Given the description of an element on the screen output the (x, y) to click on. 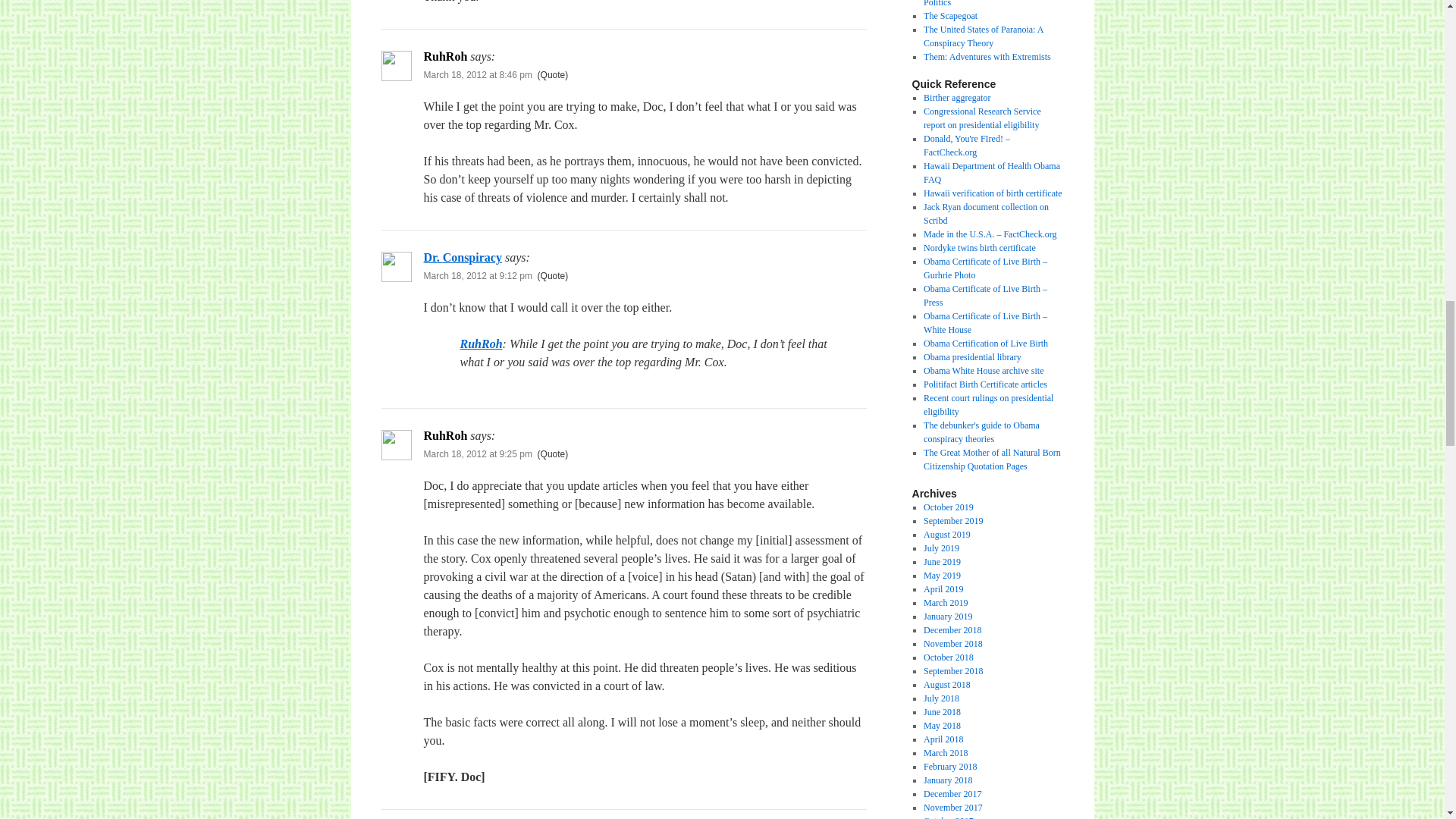
March 18, 2012 at 9:12 pm (477, 276)
Dr. Conspiracy (461, 256)
Click here or select text to quote comment (553, 74)
RuhRoh (481, 343)
March 18, 2012 at 8:46 pm (477, 74)
Click here or select text to quote comment (553, 453)
Click here or select text to quote comment (553, 276)
